Given the description of an element on the screen output the (x, y) to click on. 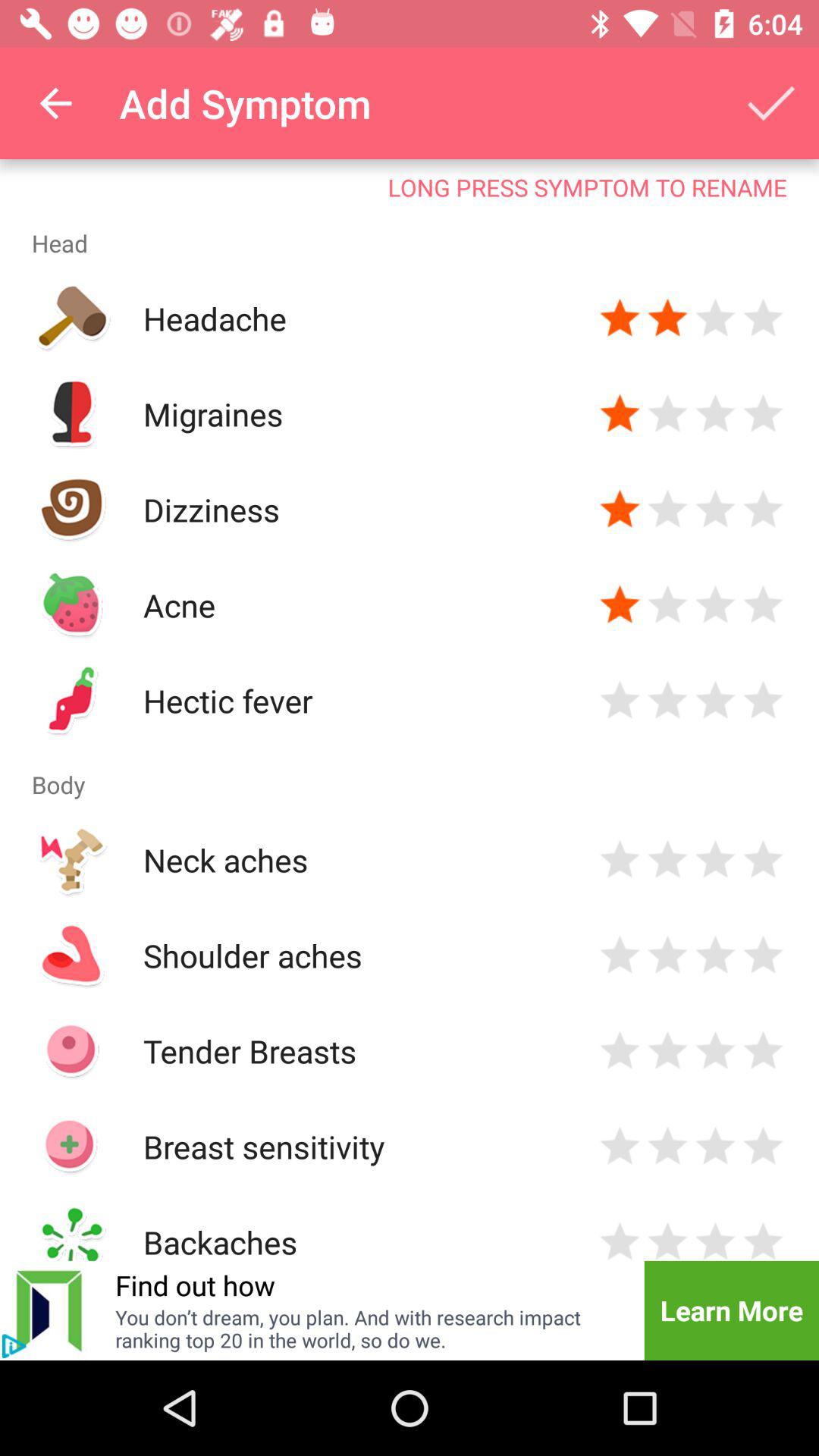
rate tender breasts 3 stars (715, 1050)
